Given the description of an element on the screen output the (x, y) to click on. 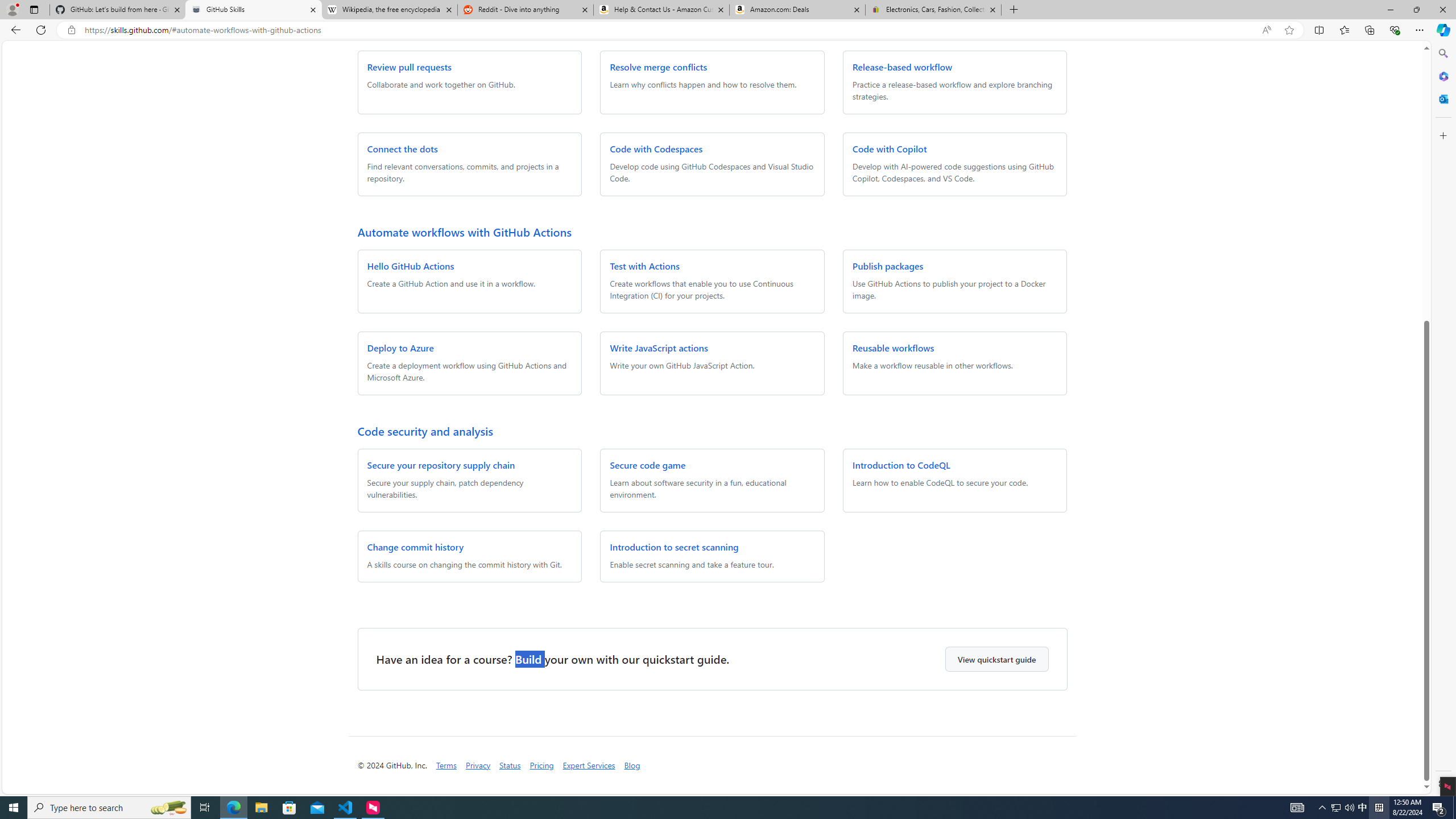
Terms (446, 765)
Secure your repository supply chain (440, 464)
